Given the description of an element on the screen output the (x, y) to click on. 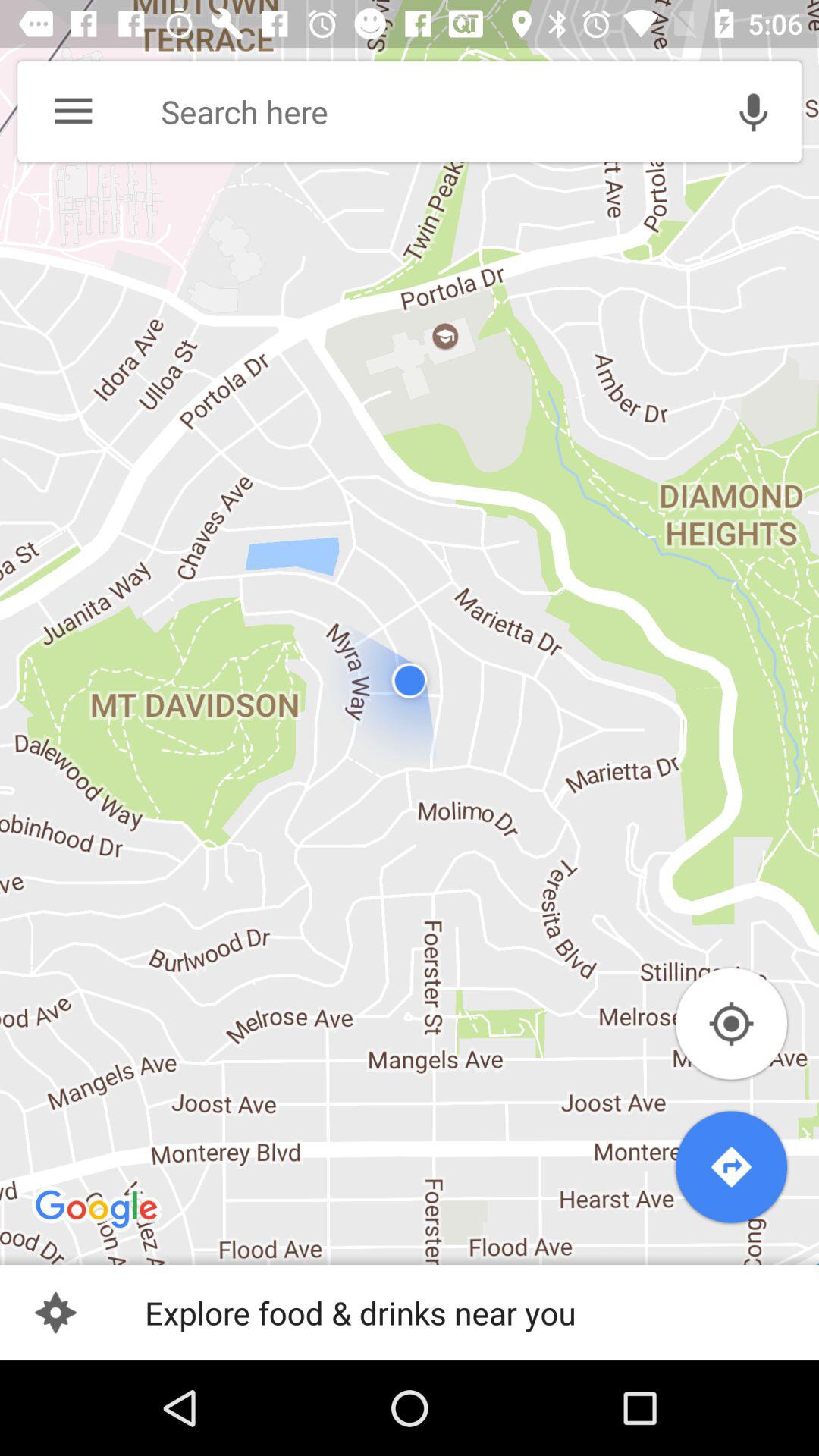
click on the voice search button at top right (753, 111)
